Given the description of an element on the screen output the (x, y) to click on. 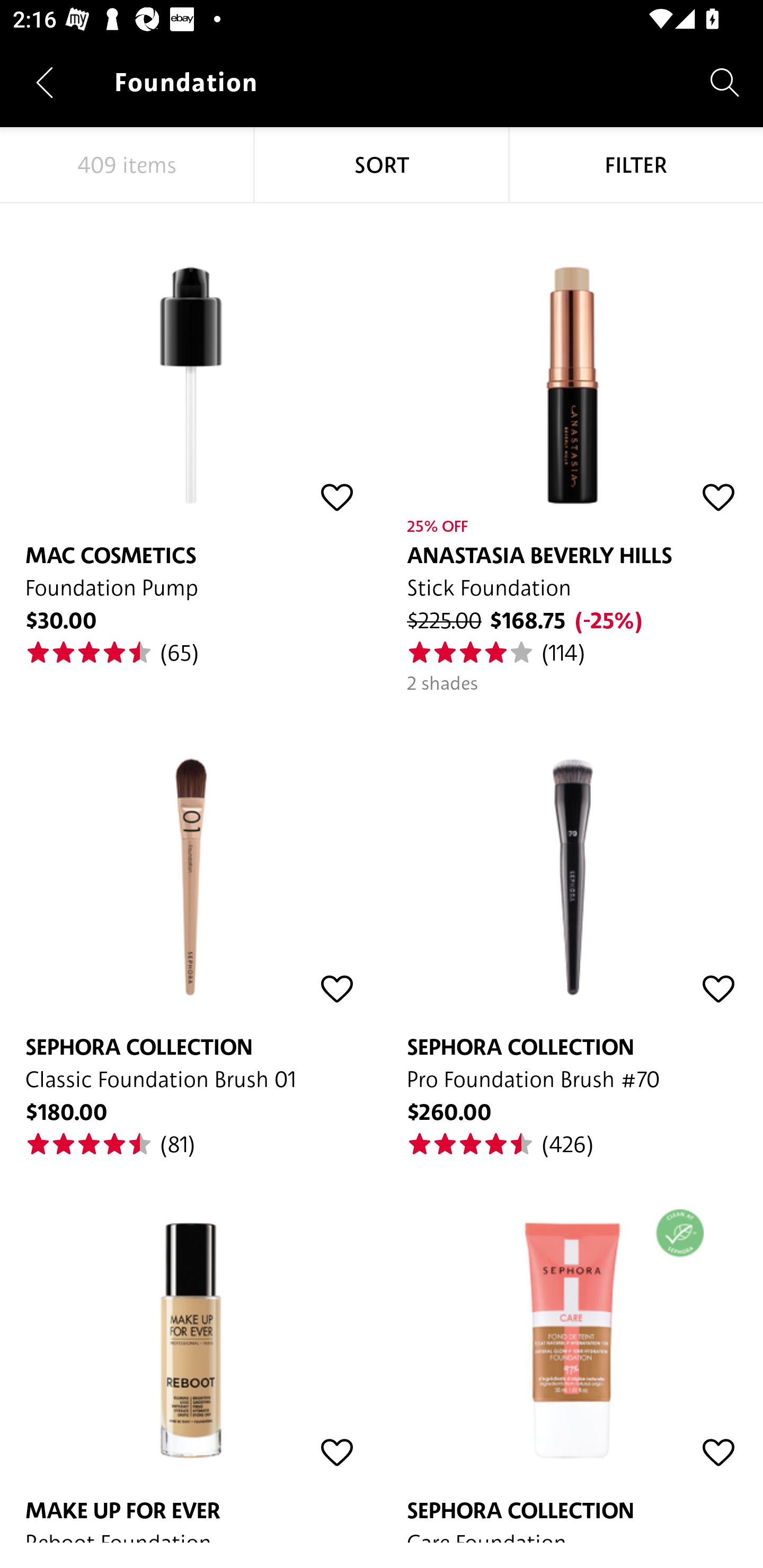
Navigate up (44, 82)
Search (724, 81)
SORT (381, 165)
FILTER (636, 165)
MAC COSMETICS Foundation Pump $30.00 (65) (190, 434)
MAKE UP FOR EVER Reboot Foundation $430.00 (190, 1350)
SEPHORA COLLECTION Care Foundation $175.00 (571, 1350)
